Given the description of an element on the screen output the (x, y) to click on. 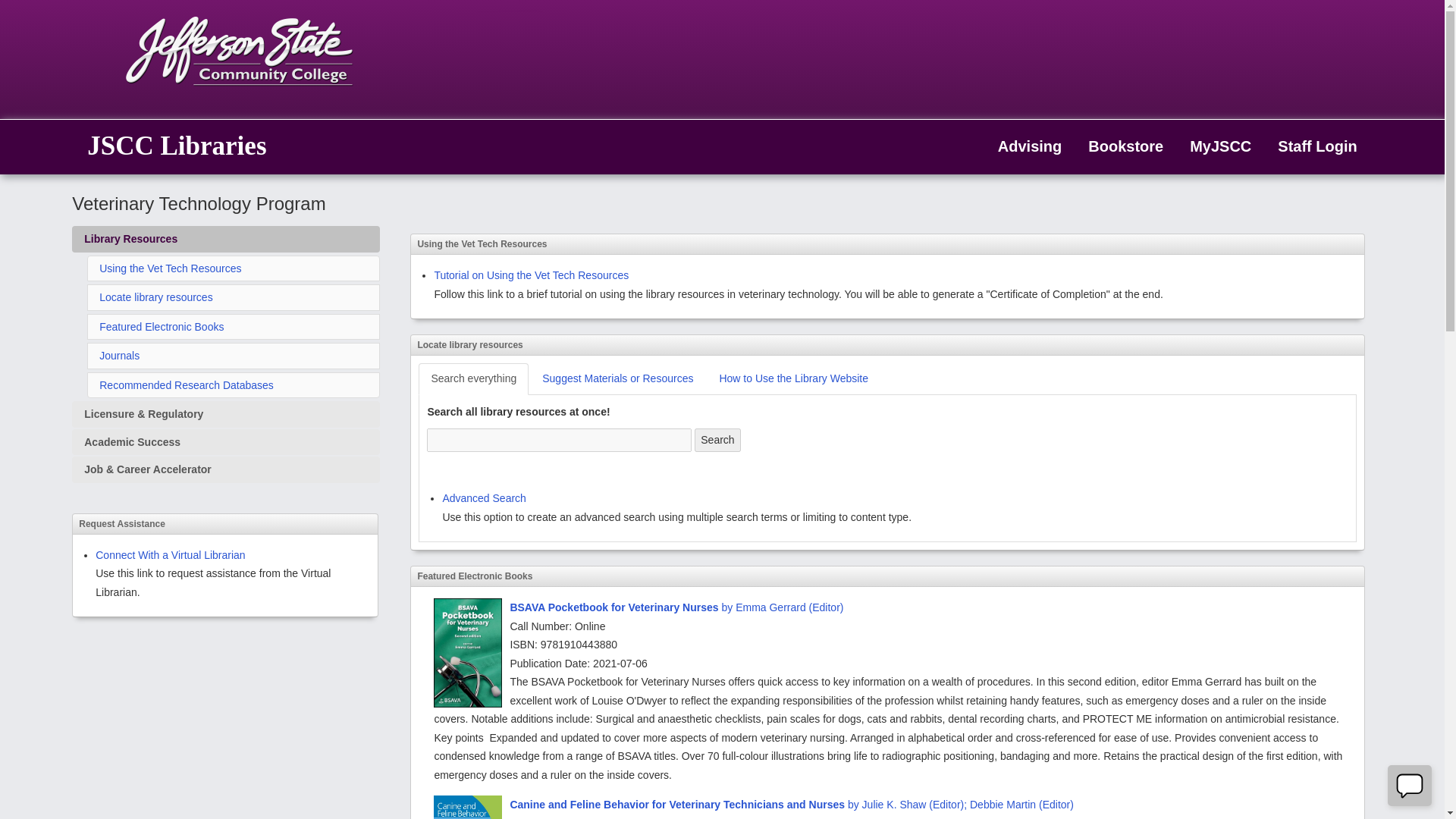
Using the Vet Tech Resources (170, 268)
MyJSCC (1214, 147)
Locate library resources (155, 297)
Tutorial on Using the Vet Tech Resources (530, 275)
Offline (1409, 784)
Library Resources (225, 239)
How to Use the Library Website (793, 378)
Bookstore (1119, 147)
Offline (1409, 785)
Journals (119, 355)
Academic Success (225, 442)
Featured Electronic Books (161, 326)
Eportal Login (1214, 147)
Suggest Materials or Resources (616, 378)
Recommended Research Databases (186, 385)
